Given the description of an element on the screen output the (x, y) to click on. 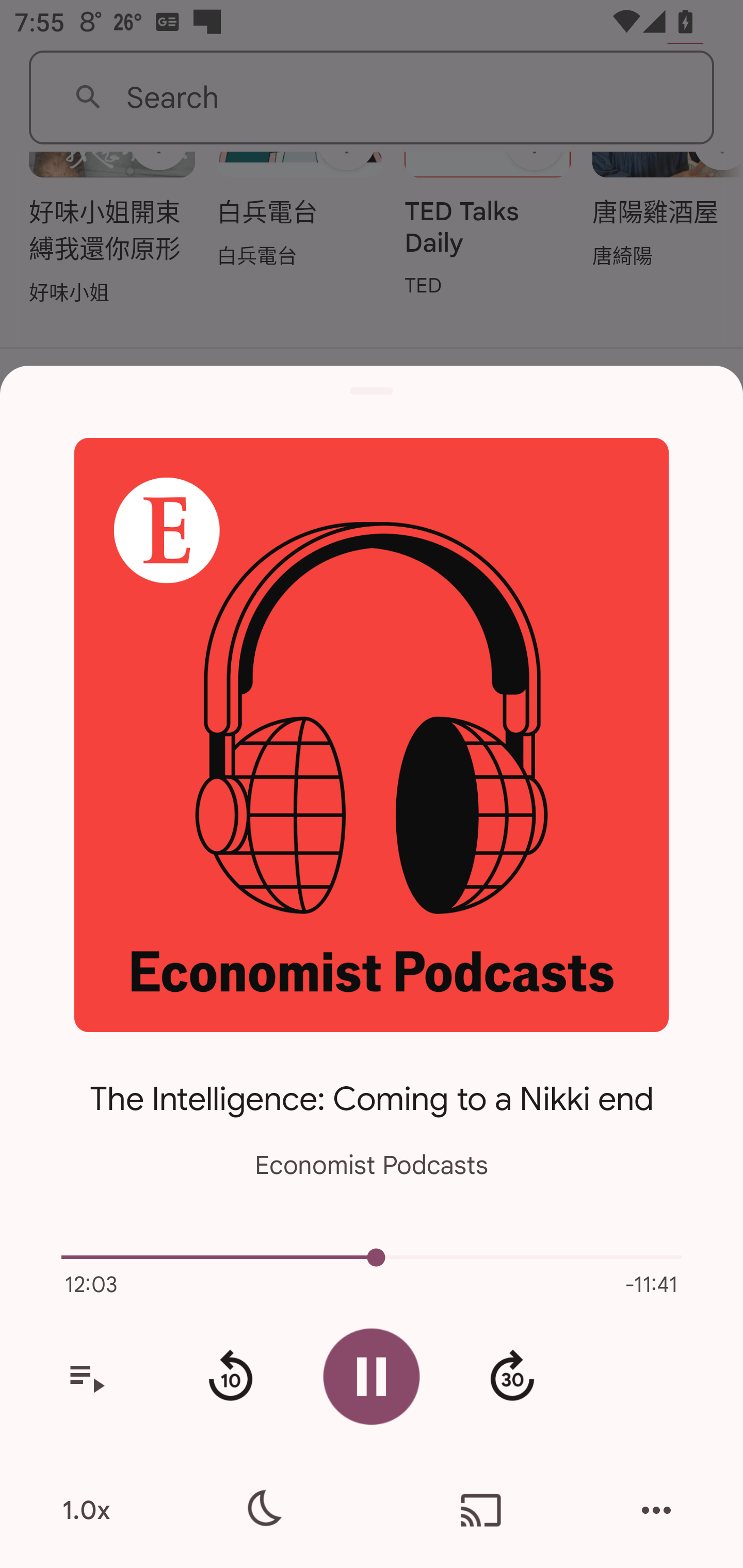
Open the show page for Economist Podcasts (371, 734)
5074.0 Current episode playback (371, 1257)
Pause (371, 1376)
View your queue (86, 1376)
Rewind 10 seconds (230, 1376)
Fast forward 30 second (511, 1376)
1.0x Playback speed is 1.0. (86, 1510)
Sleep timer settings (261, 1510)
Cast. Disconnected (480, 1510)
More actions (655, 1510)
